Given the description of an element on the screen output the (x, y) to click on. 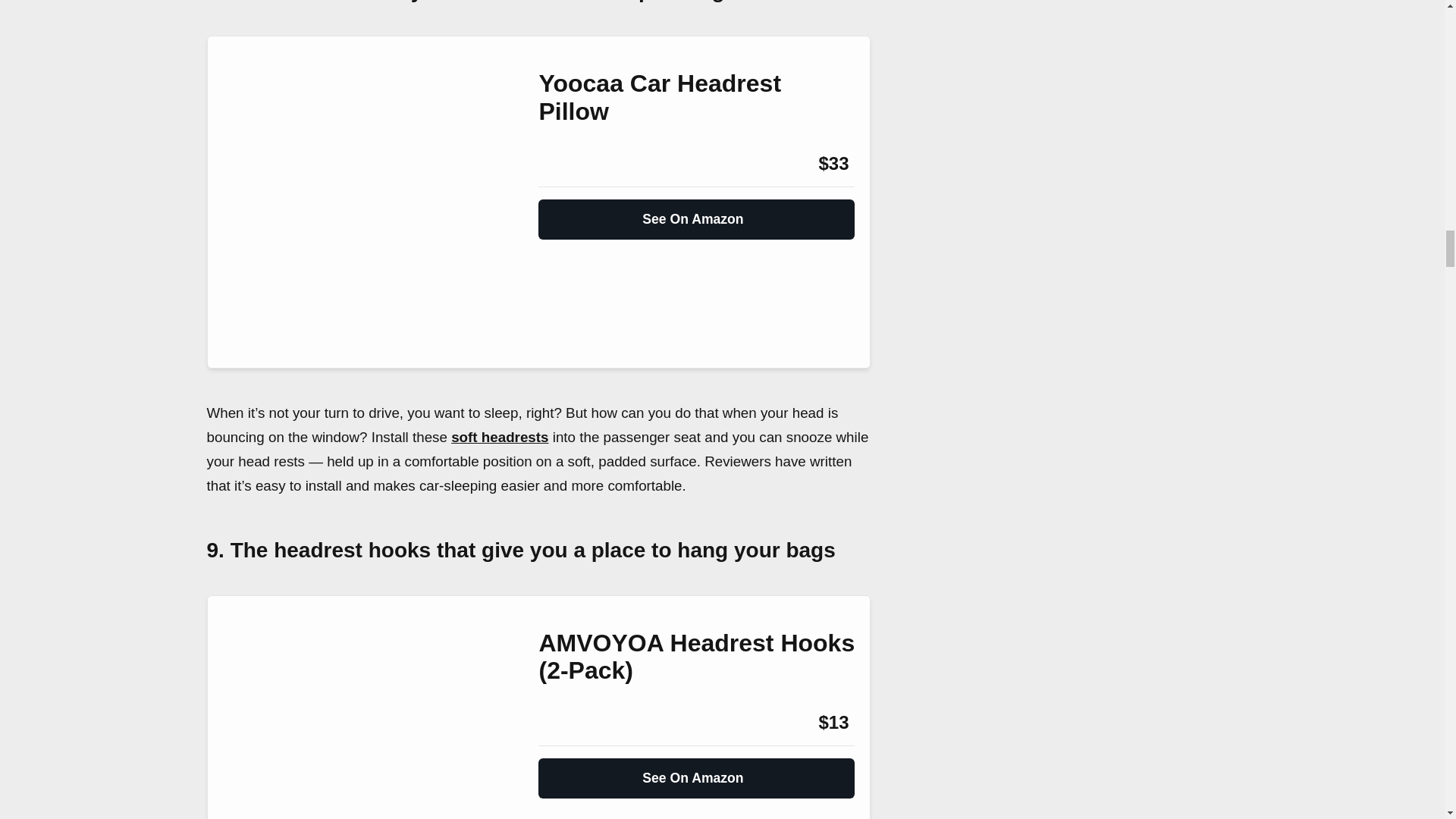
See On Amazon (696, 212)
Amazon (579, 722)
soft headrests (499, 437)
Amazon (579, 163)
